Given the description of an element on the screen output the (x, y) to click on. 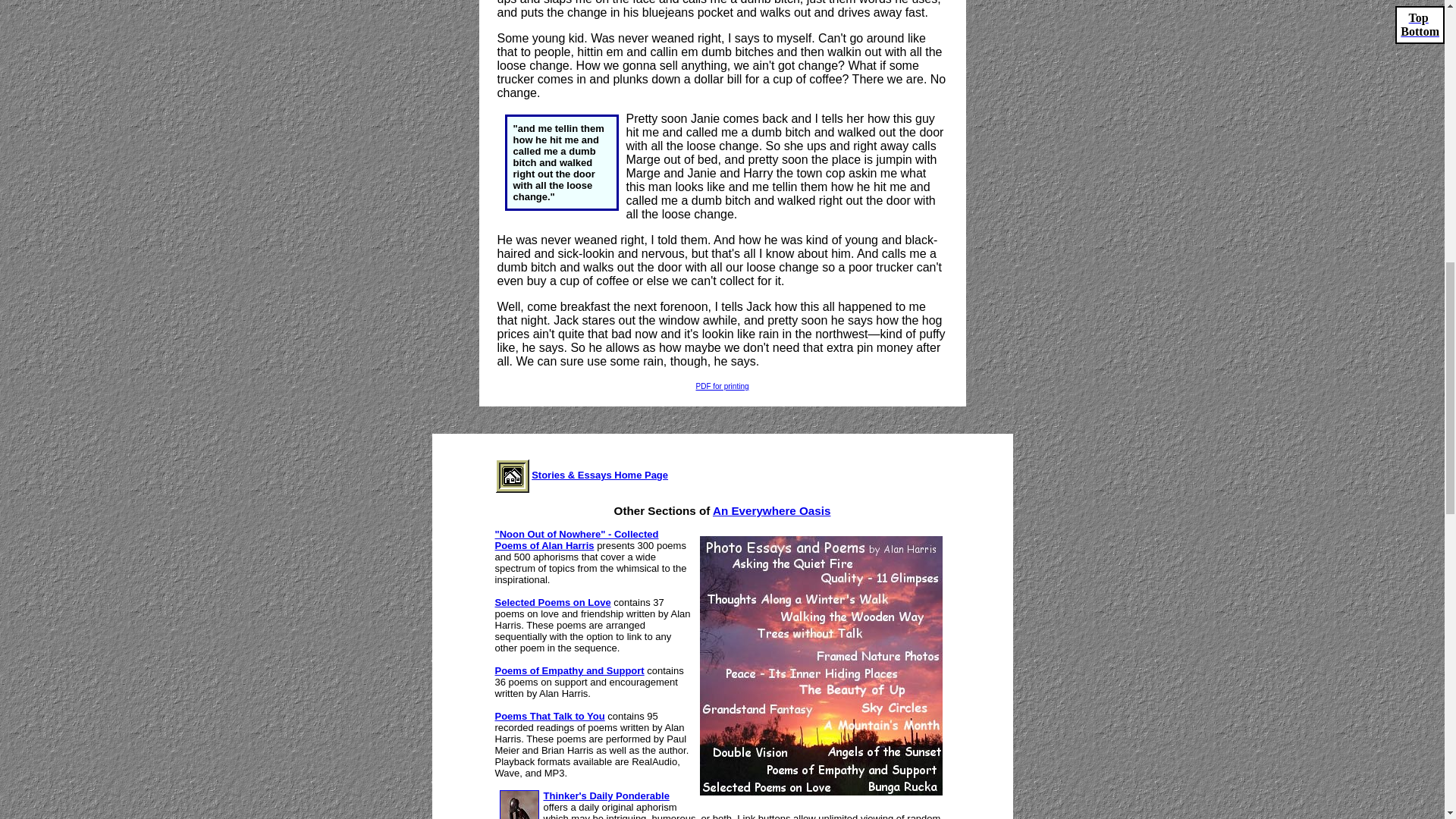
Poems of Empathy and Support (569, 670)
Above story formatted for printing by itself (721, 386)
An Everywhere Oasis (772, 510)
Selected Poems on Love (552, 602)
Thinker's Daily Ponderable (605, 795)
"Noon Out of Nowhere" - Collected Poems of Alan Harris (576, 539)
Poems That Talk to You (549, 715)
PDF for printing (721, 386)
